Given the description of an element on the screen output the (x, y) to click on. 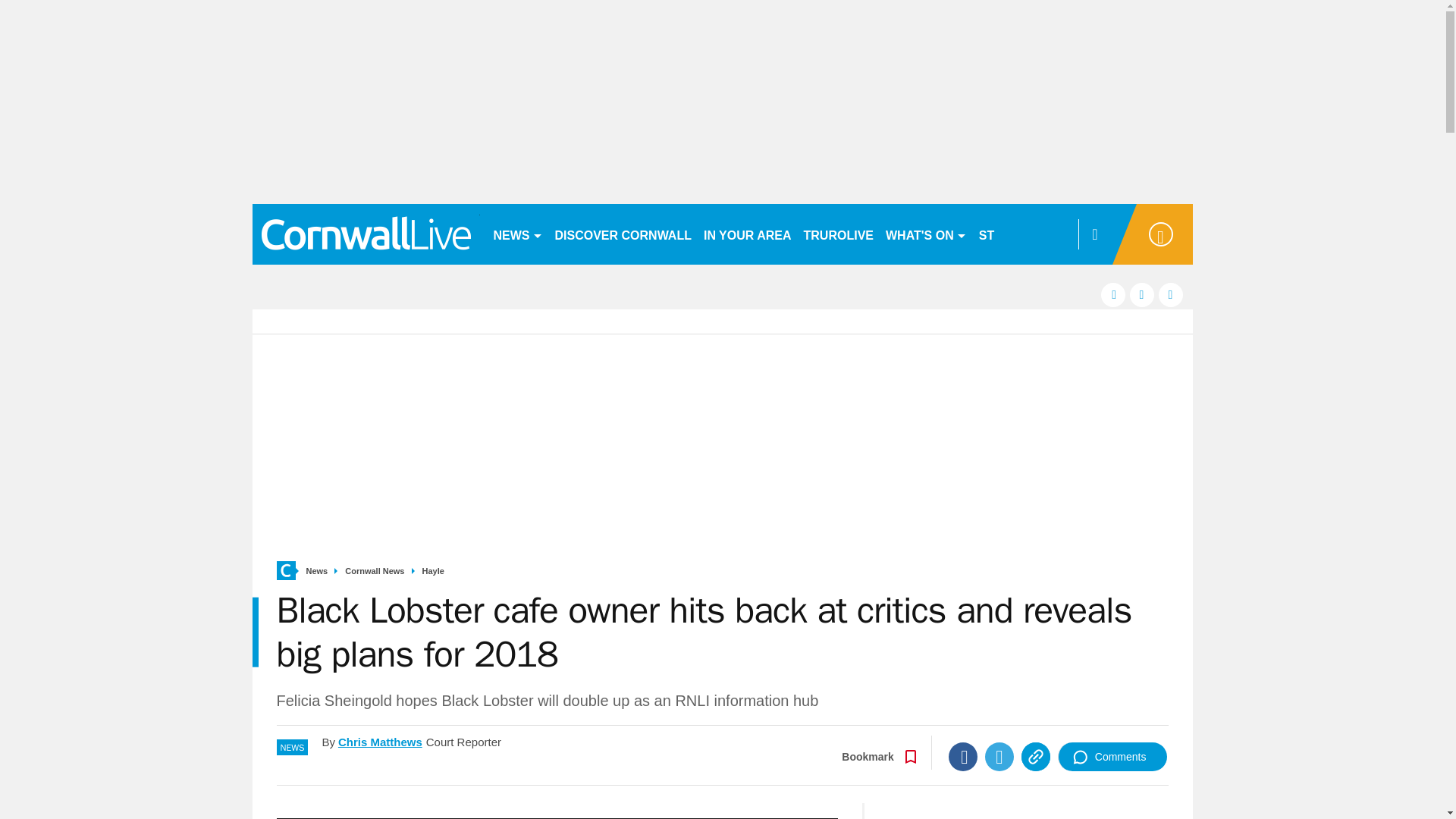
TRUROLIVE (838, 233)
Twitter (999, 756)
IN YOUR AREA (747, 233)
Facebook (962, 756)
twitter (1141, 294)
facebook (1112, 294)
WHAT'S ON (925, 233)
Comments (1112, 756)
ST AUSTELL (1015, 233)
NEWS (517, 233)
cornwalllive (365, 233)
DISCOVER CORNWALL (622, 233)
instagram (1170, 294)
